Given the description of an element on the screen output the (x, y) to click on. 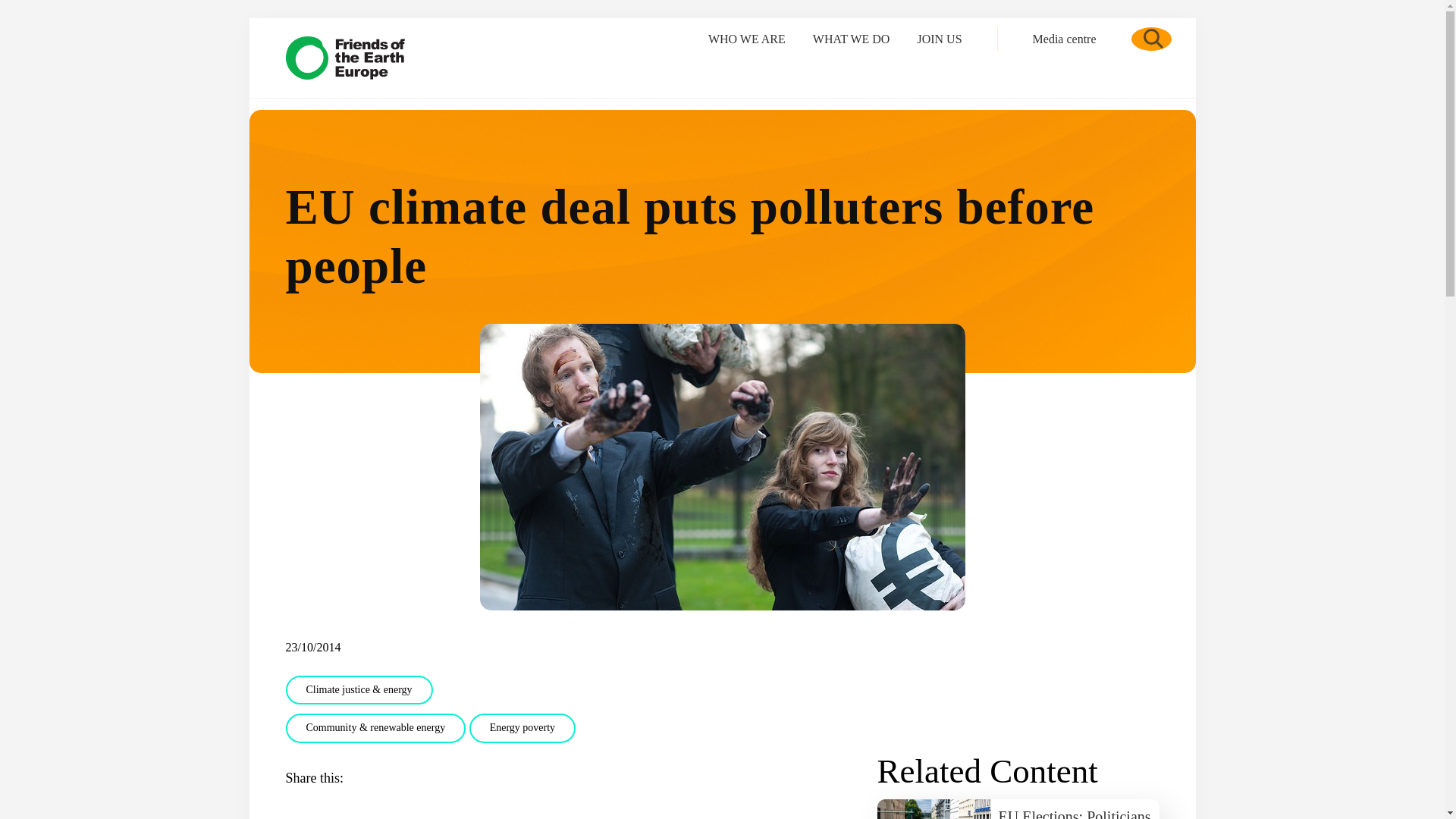
JOIN US (939, 38)
WHO WE ARE (746, 38)
WHAT WE DO (851, 38)
Search (1151, 38)
Energy poverty (521, 727)
Media centre (1064, 38)
